Given the description of an element on the screen output the (x, y) to click on. 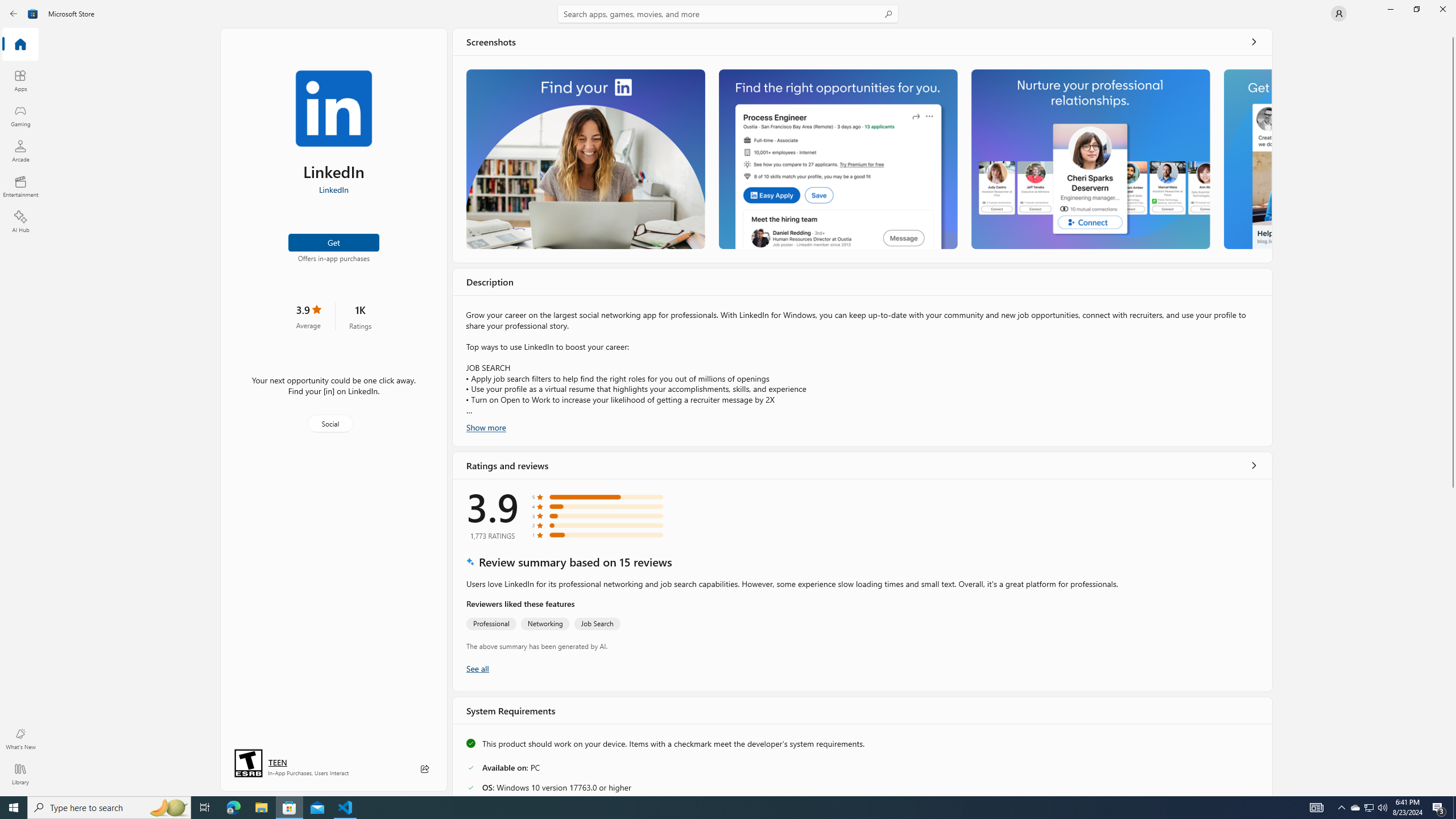
Social (329, 423)
Show more (485, 426)
Vertical Small Decrease (1452, 31)
Screenshot 1 (584, 158)
3.9 stars. Click to skip to ratings and reviews (307, 315)
Screenshot 4 (1247, 158)
AutomationID: NavigationControl (728, 398)
Search (727, 13)
Share (424, 769)
